Given the description of an element on the screen output the (x, y) to click on. 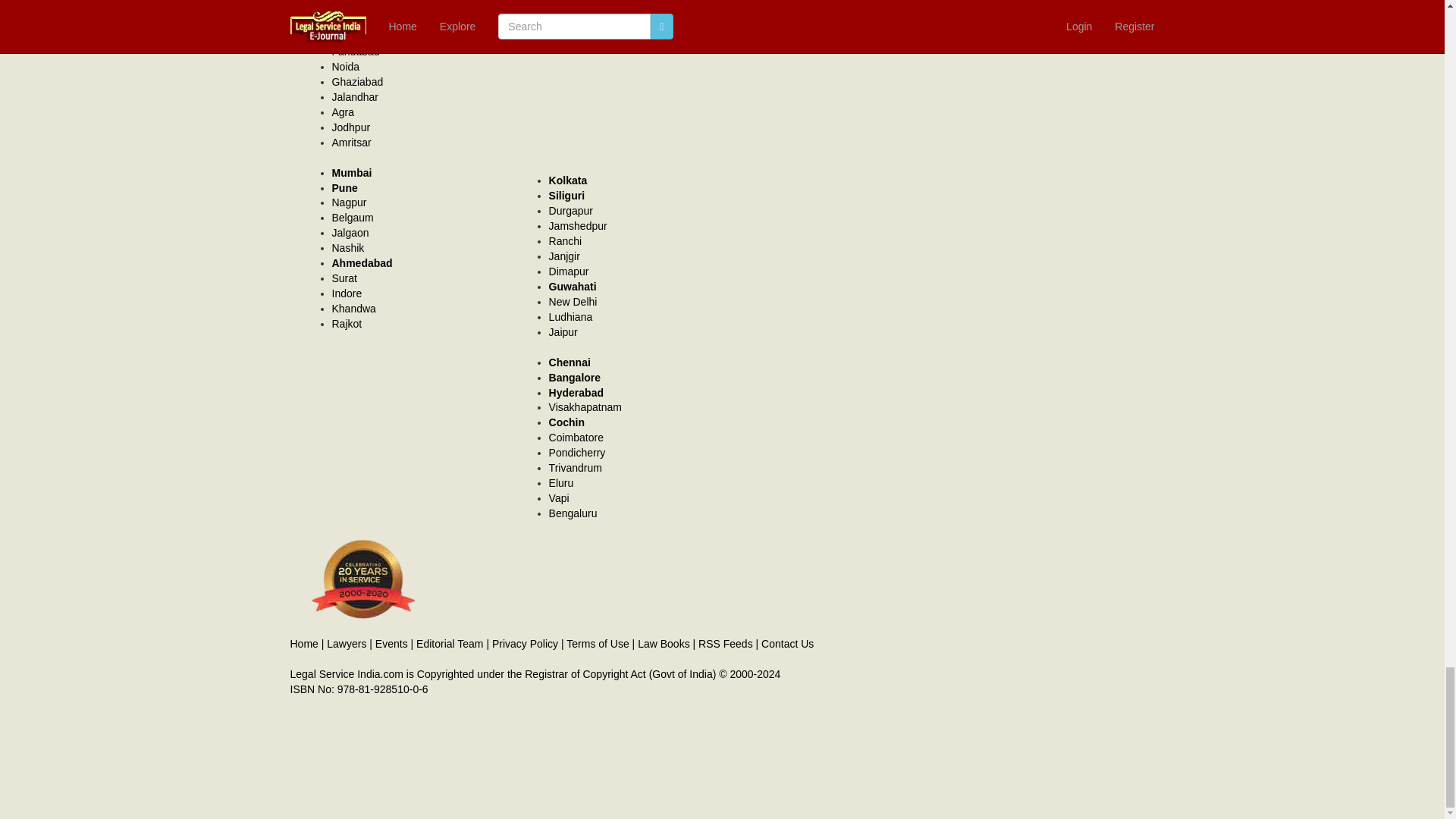
Noida (345, 66)
Amritsar (351, 142)
Agra (343, 111)
lawyers in Nagpur (348, 202)
Lawyers in Ghaziabad (357, 81)
Lawyers in Gurgaon (351, 36)
Lawyers in Lucknow (352, 21)
lawyers in Agra (343, 111)
Pune (344, 187)
lawyers in Mumbai (351, 173)
Lucknow (352, 21)
lawyers in Pune (344, 187)
Jodhpur (351, 127)
Jalandhar (354, 96)
Lawyers in Jalandhar (354, 96)
